Given the description of an element on the screen output the (x, y) to click on. 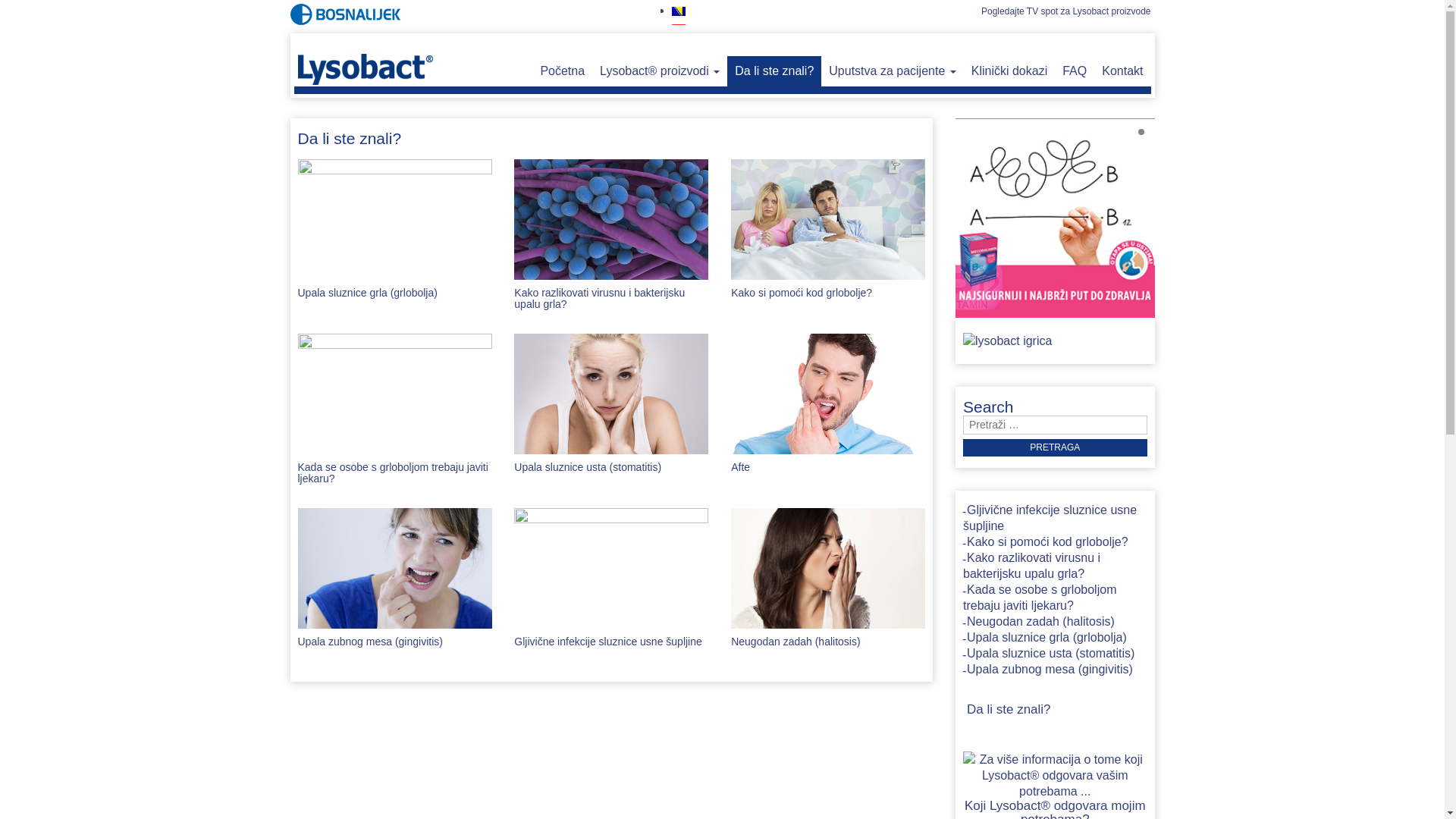
Upala sluznice grla (grlobolja) Element type: text (1044, 638)
Uputstva za pacijente Element type: text (892, 71)
FAQ Element type: text (1074, 71)
Albanian Element type: hover (678, 28)
Pogledajte TV spot za Lysobact proizvode Element type: text (1065, 11)
Bosnian Element type: hover (678, 10)
Upala sluznice usta (stomatitis) Element type: text (1048, 654)
Da li ste znali? Element type: text (1007, 710)
Kako razlikovati virusnu i bakterijsku upalu grla? Element type: text (599, 298)
Kada se osobe s grloboljom trebaju javiti ljekaru? Element type: text (392, 472)
Neugodan zadah (halitosis) Element type: text (795, 641)
Pretraga Element type: text (1055, 447)
Neugodan zadah (halitosis) Element type: text (1038, 622)
Kontakt Element type: text (1122, 71)
Upala sluznice grla (grlobolja) Element type: text (366, 292)
Upala sluznice usta (stomatitis) Element type: text (587, 467)
Upala zubnog mesa (gingivitis) Element type: text (369, 641)
Da li ste znali? Element type: text (774, 71)
Afte Element type: text (740, 467)
Mecobalamin Banner Element type: hover (1054, 217)
Kada se osobe s grloboljom trebaju javiti ljekaru? Element type: text (1039, 599)
Kako razlikovati virusnu i bakterijsku upalu grla? Element type: text (1031, 567)
Upala zubnog mesa (gingivitis) Element type: text (1047, 670)
